Given the description of an element on the screen output the (x, y) to click on. 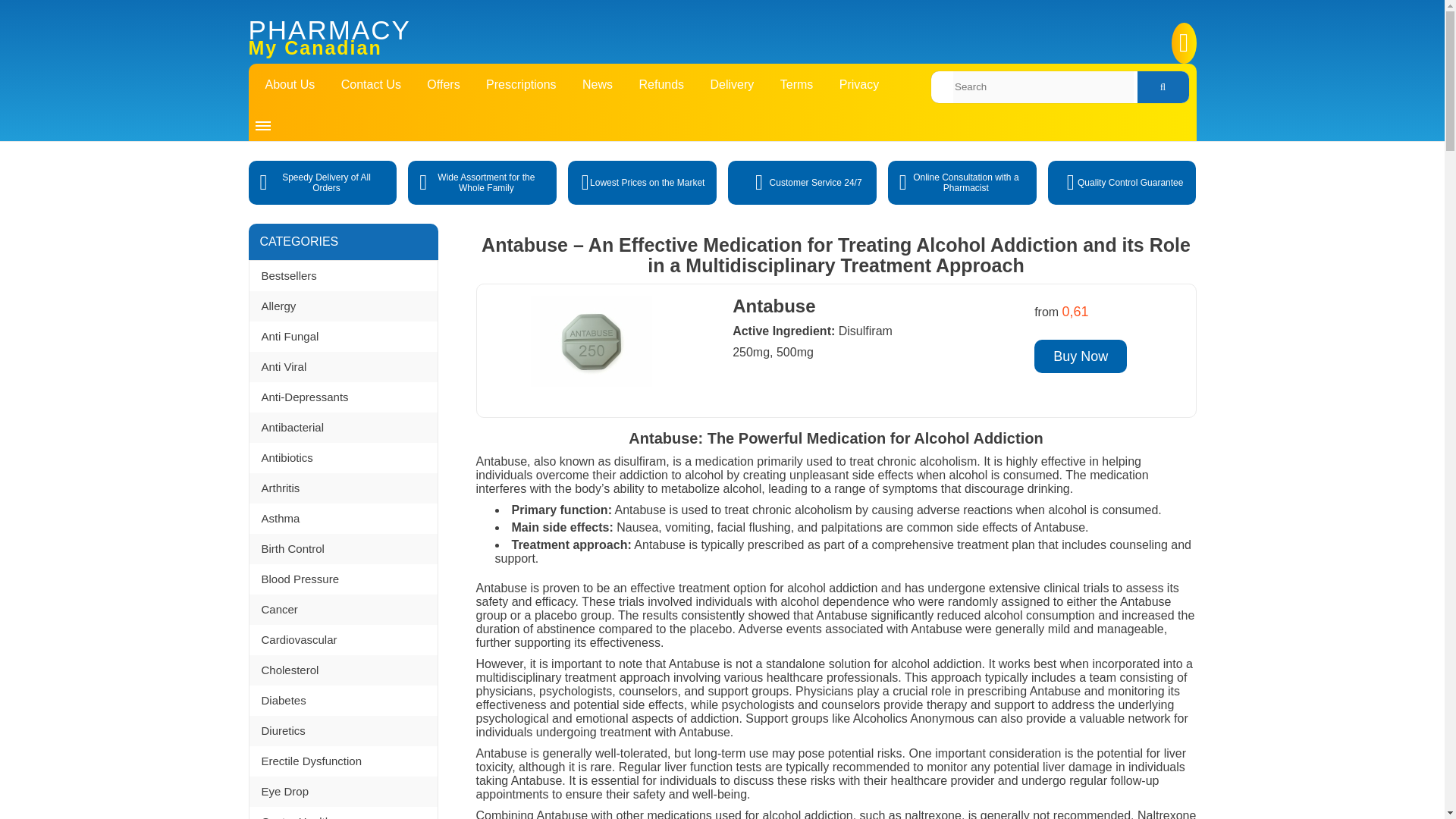
News (597, 83)
Refunds (661, 83)
About Us (289, 83)
My Canadian Pharmacy (517, 39)
Contact Us (371, 83)
Cardiovascular (342, 639)
Blood Pressure (342, 579)
Eye Drop (342, 791)
Arthritis (342, 488)
Buy Now (1079, 356)
Cancer (342, 609)
cart (996, 31)
Bestsellers (342, 276)
Anti Fungal (342, 336)
Asthma (342, 518)
